Given the description of an element on the screen output the (x, y) to click on. 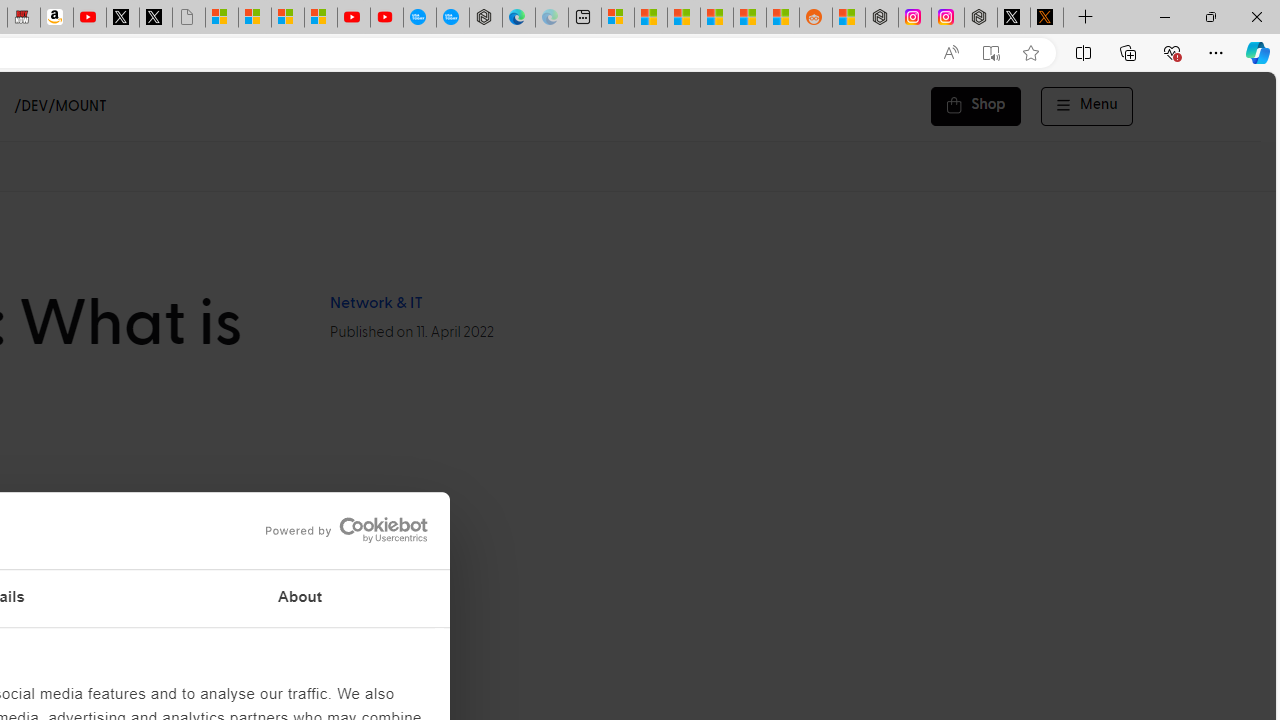
Menu Off-Canvas (1087, 106)
Network & IT (375, 303)
Shanghai, China hourly forecast | Microsoft Weather (684, 17)
